Given the description of an element on the screen output the (x, y) to click on. 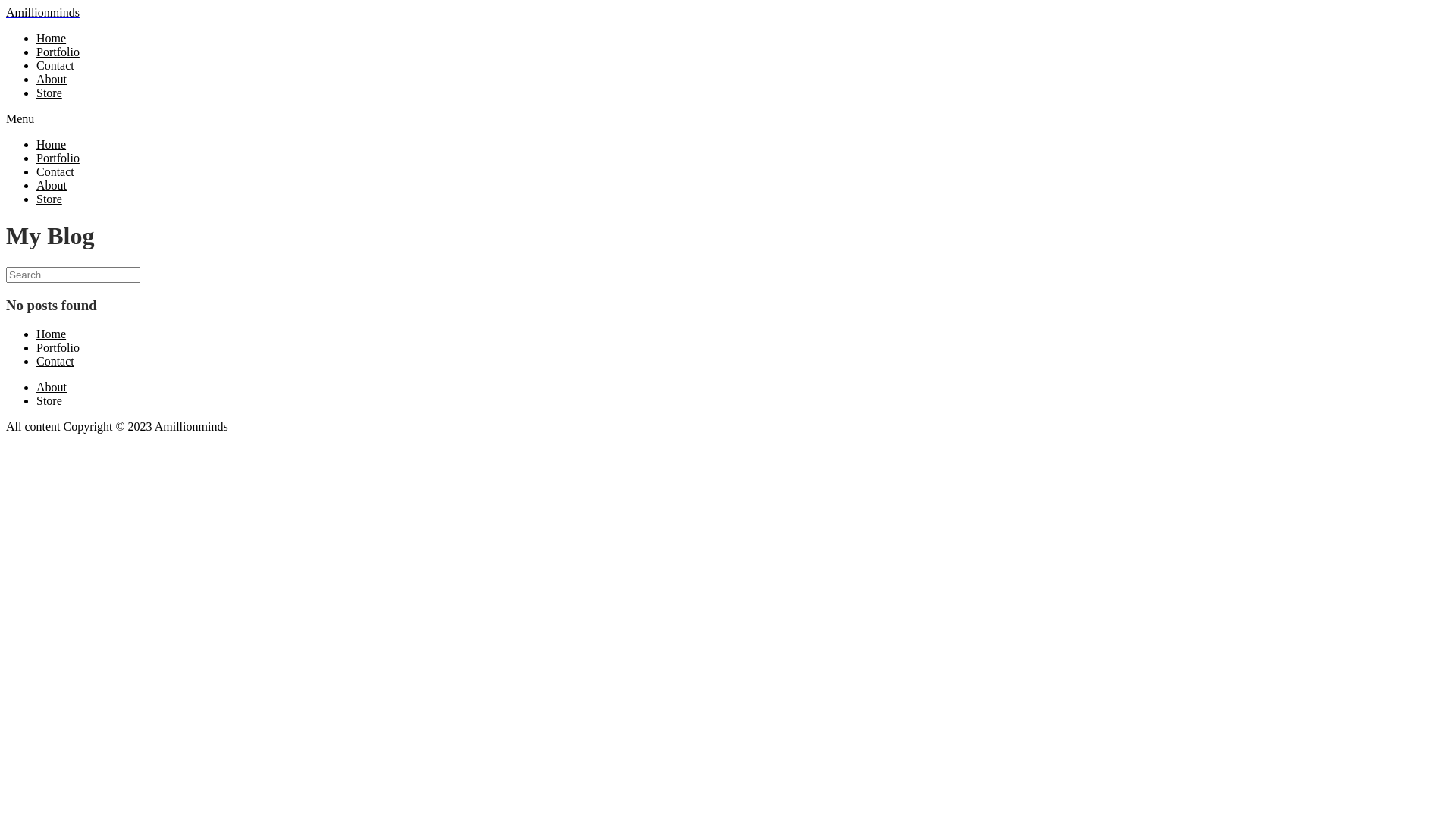
Home Element type: text (50, 37)
Portfolio Element type: text (57, 51)
About Element type: text (51, 184)
Menu Element type: text (20, 118)
Portfolio Element type: text (57, 347)
Home Element type: text (50, 144)
Contact Element type: text (55, 171)
Home Element type: text (50, 333)
Store Element type: text (49, 400)
Contact Element type: text (55, 65)
About Element type: text (51, 78)
About Element type: text (51, 386)
Amillionminds Element type: text (42, 12)
Store Element type: text (49, 92)
Store Element type: text (49, 198)
Contact Element type: text (55, 360)
Portfolio Element type: text (57, 157)
